Given the description of an element on the screen output the (x, y) to click on. 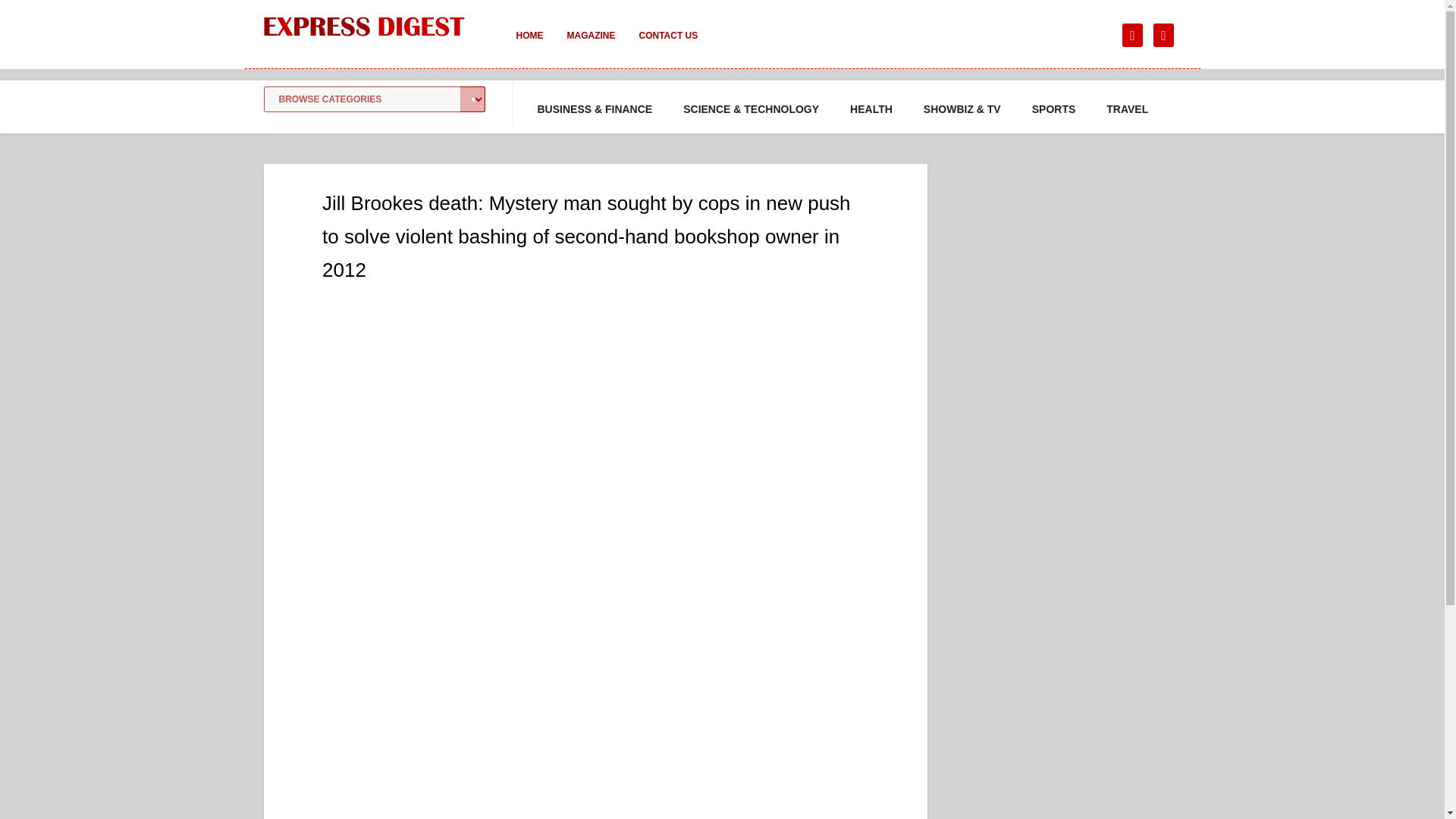
MAGAZINE (590, 45)
TRAVEL (1127, 109)
CONTACT US (667, 45)
HEALTH (871, 109)
SPORTS (1053, 109)
